Given the description of an element on the screen output the (x, y) to click on. 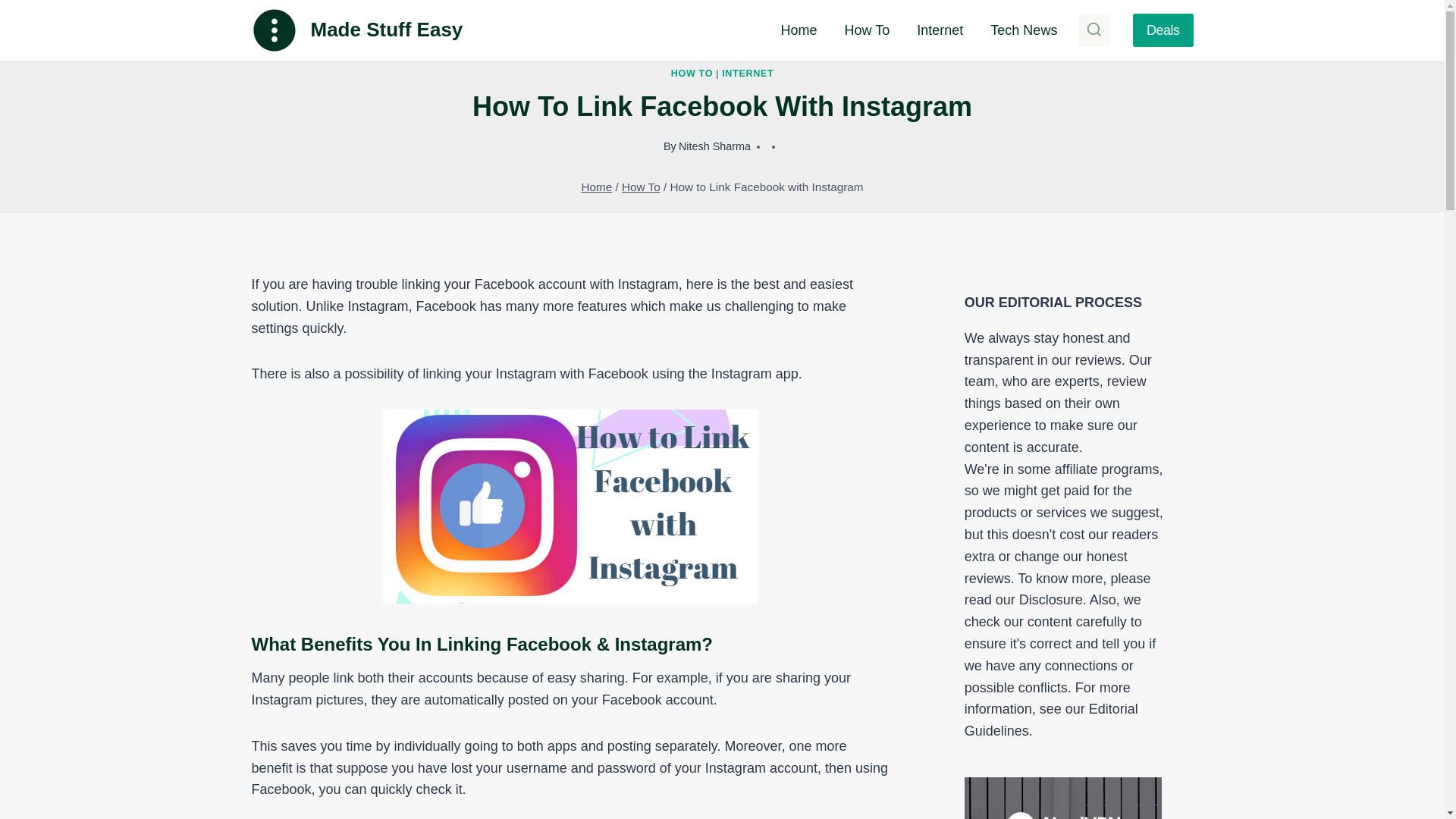
Made Stuff Easy (357, 30)
HOW TO (692, 72)
Tech News (1023, 30)
Nitesh Sharma (714, 146)
Home (595, 186)
How To (867, 30)
How To (641, 186)
Internet (939, 30)
Deals (1162, 29)
Home (799, 30)
